Given the description of an element on the screen output the (x, y) to click on. 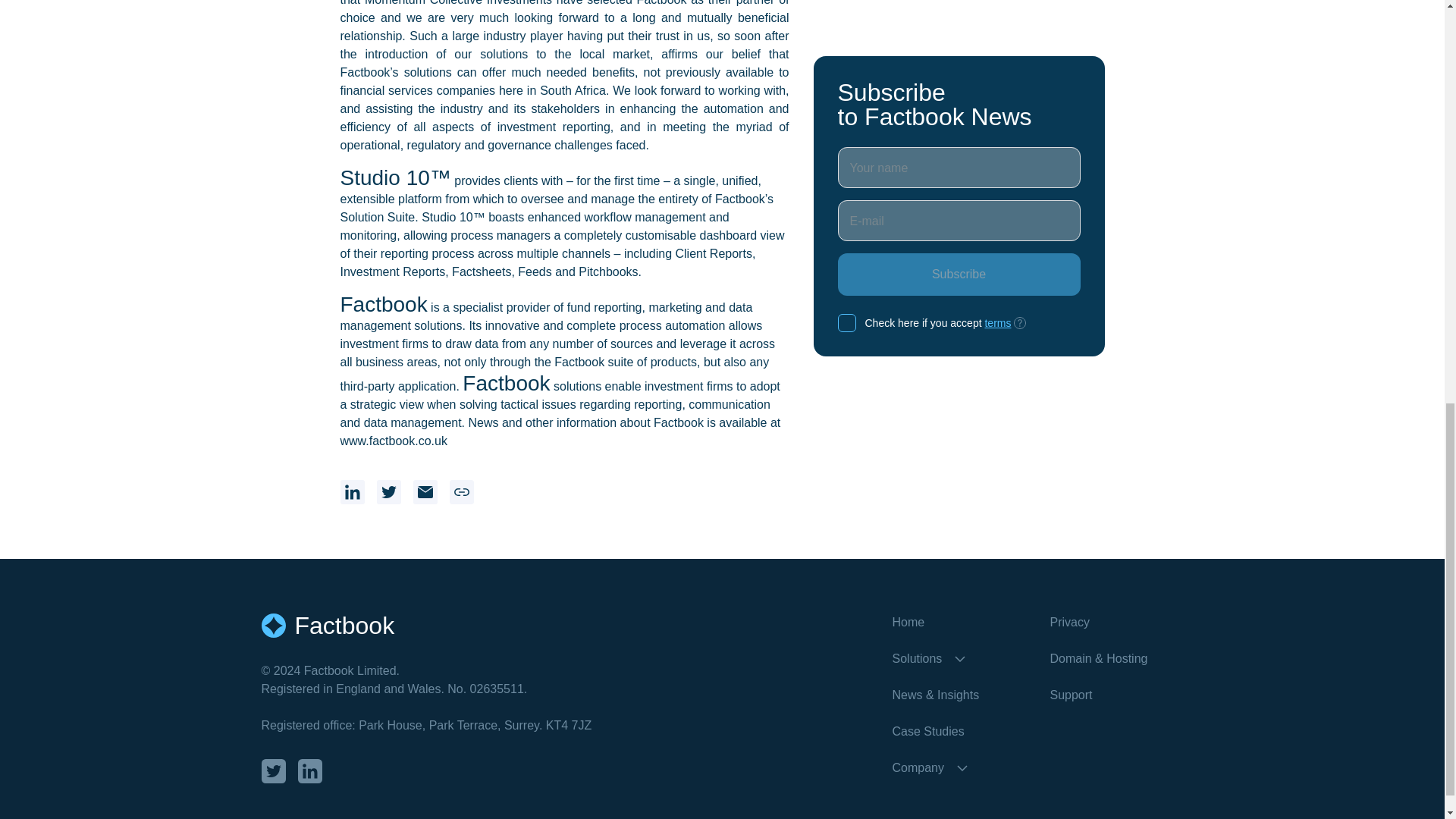
Privacy (1115, 622)
Factbook (575, 625)
Home (958, 622)
Case Studies (958, 731)
Support (1115, 695)
